Given the description of an element on the screen output the (x, y) to click on. 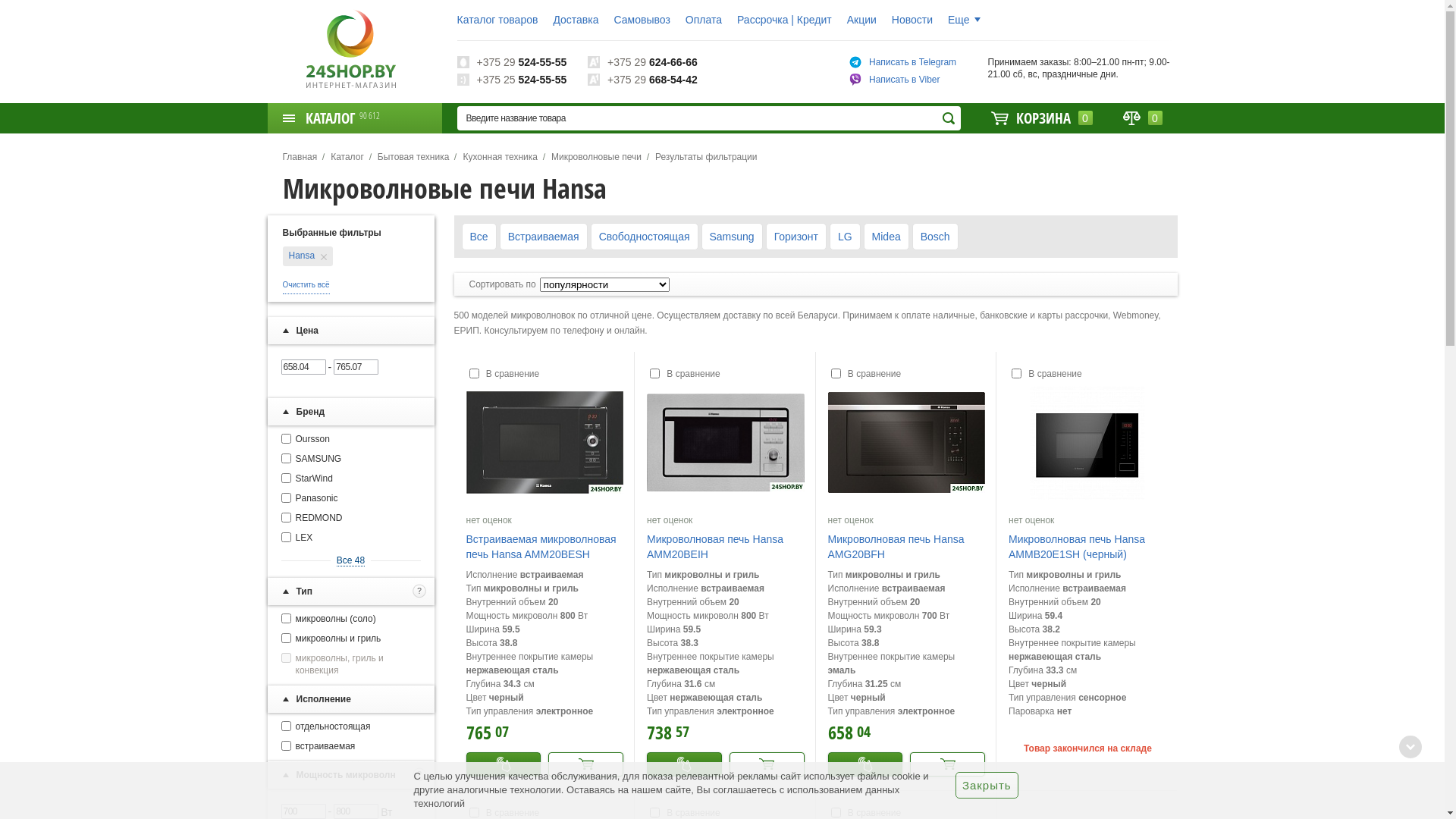
Bosch Element type: text (935, 236)
Samsung Element type: text (731, 236)
LG Element type: text (844, 236)
Midea Element type: text (886, 236)
